Given the description of an element on the screen output the (x, y) to click on. 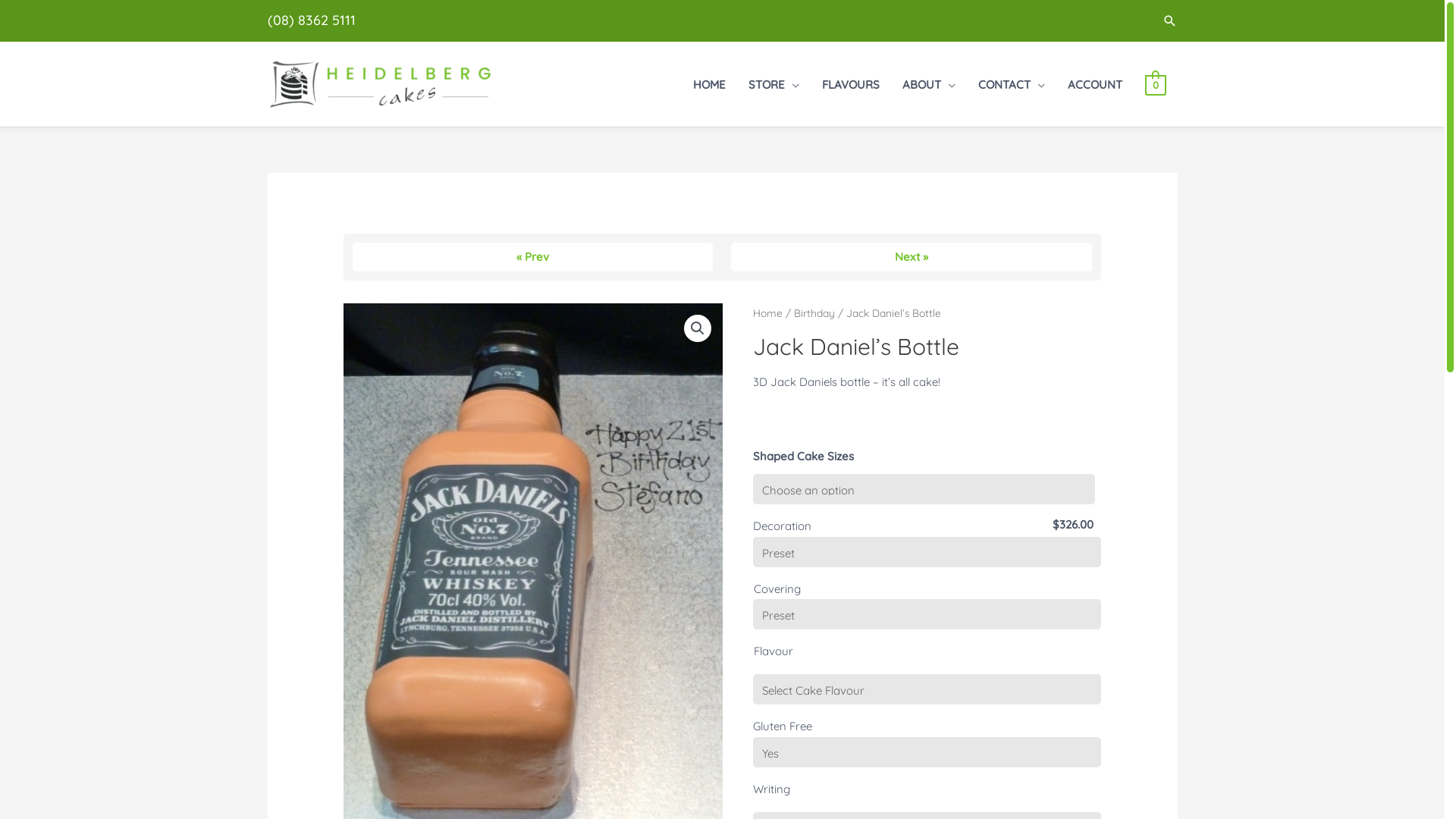
HOME Element type: text (709, 84)
Home Element type: text (766, 312)
CONTACT Element type: text (1011, 84)
ABOUT Element type: text (928, 84)
0 Element type: text (1155, 84)
Birthday Element type: text (813, 312)
STORE Element type: text (773, 84)
(08) 8362 5111 Element type: text (310, 19)
FLAVOURS Element type: text (850, 84)
ACCOUNT Element type: text (1094, 84)
